Given the description of an element on the screen output the (x, y) to click on. 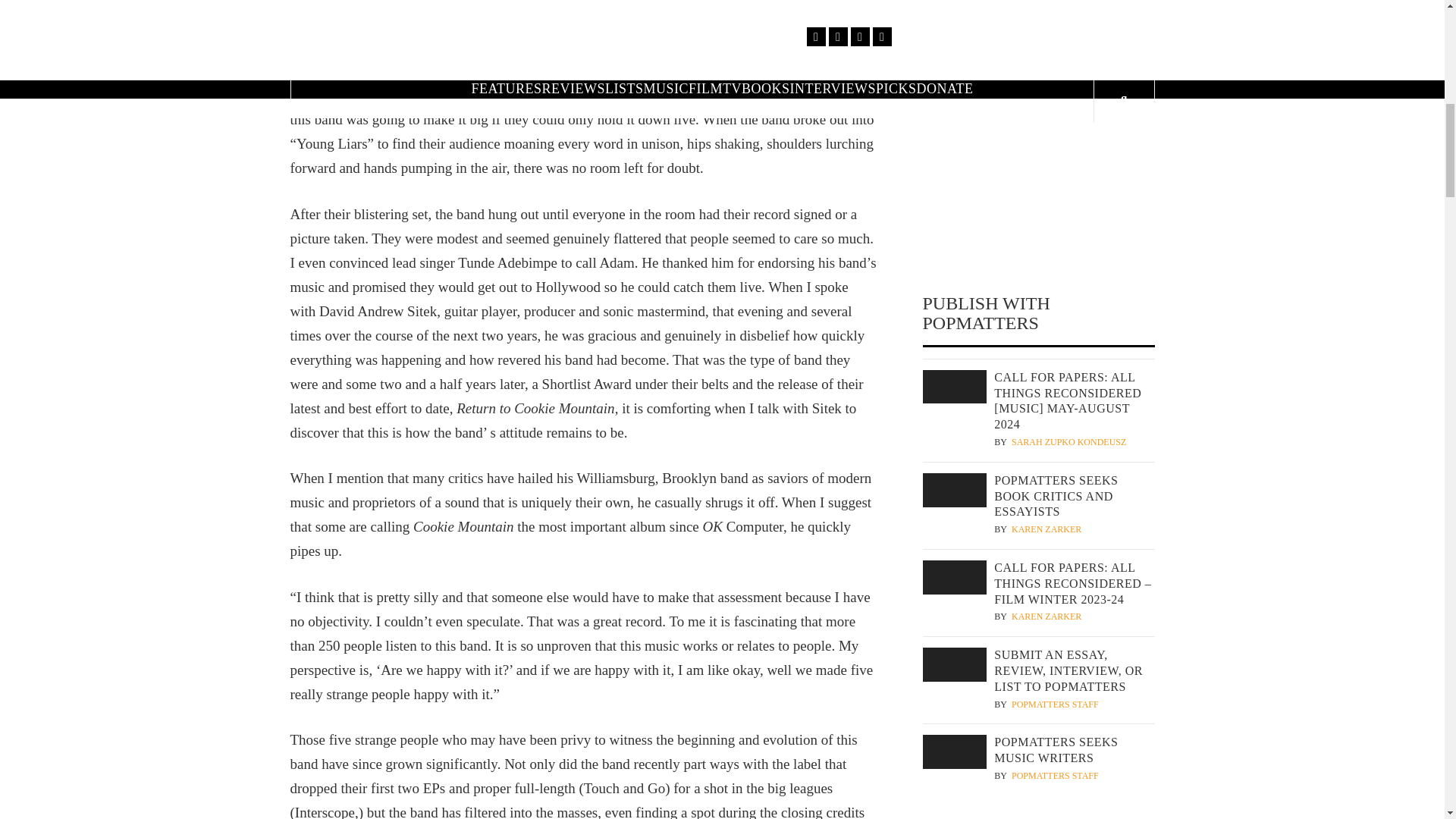
PopMatters Staff (1055, 775)
Sachyn Mital (1044, 58)
Sarah Zupko Kondeusz (1068, 441)
Karen Zarker (1046, 616)
Karen Zarker (1046, 529)
PopMatters Staff (1055, 704)
